Given the description of an element on the screen output the (x, y) to click on. 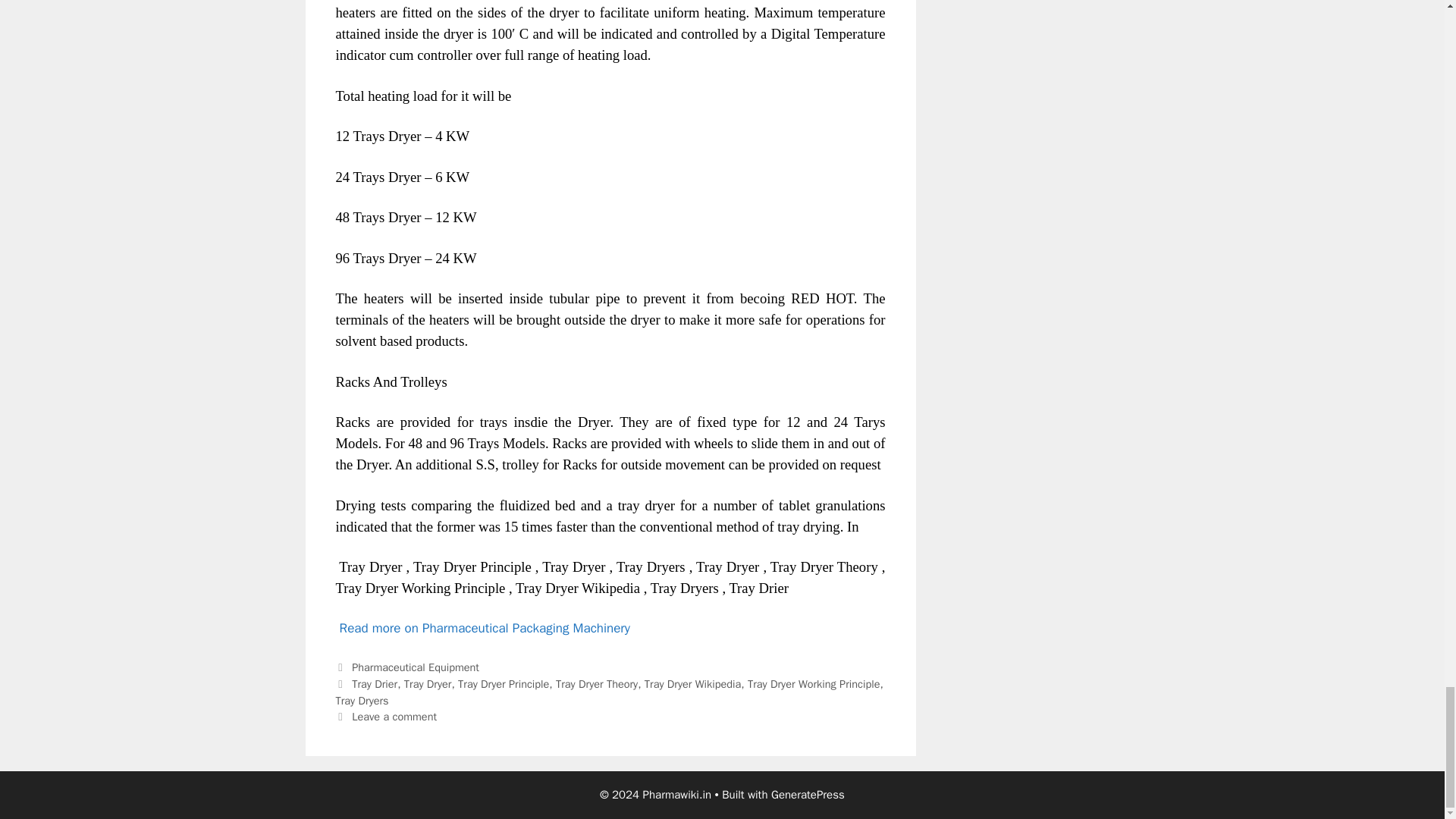
Pharmaceutical Equipment (415, 667)
Tray Drier (374, 684)
Read more on Pharmaceutical Packaging Machinery (484, 627)
